Given the description of an element on the screen output the (x, y) to click on. 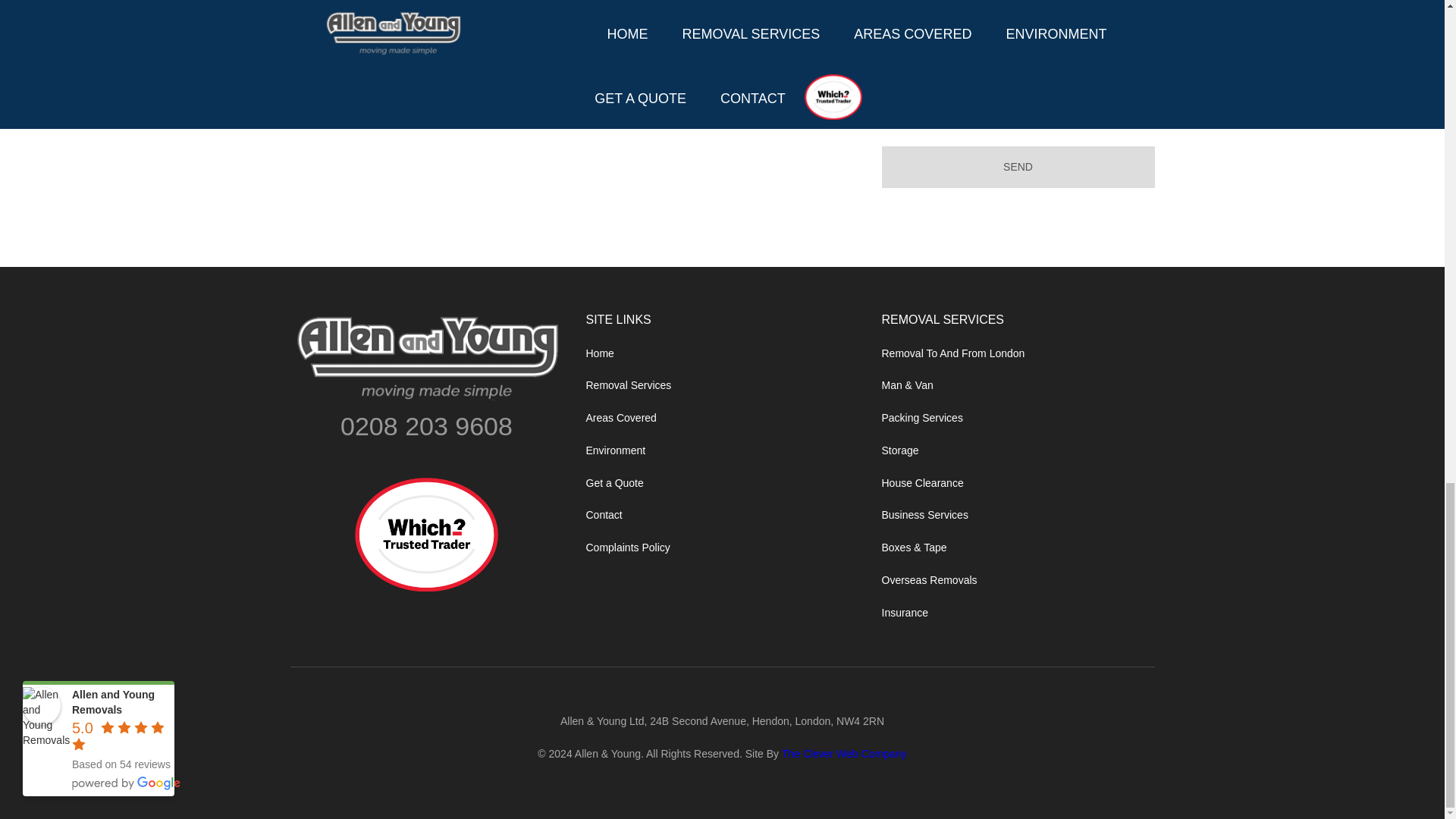
Send (1017, 167)
